Given the description of an element on the screen output the (x, y) to click on. 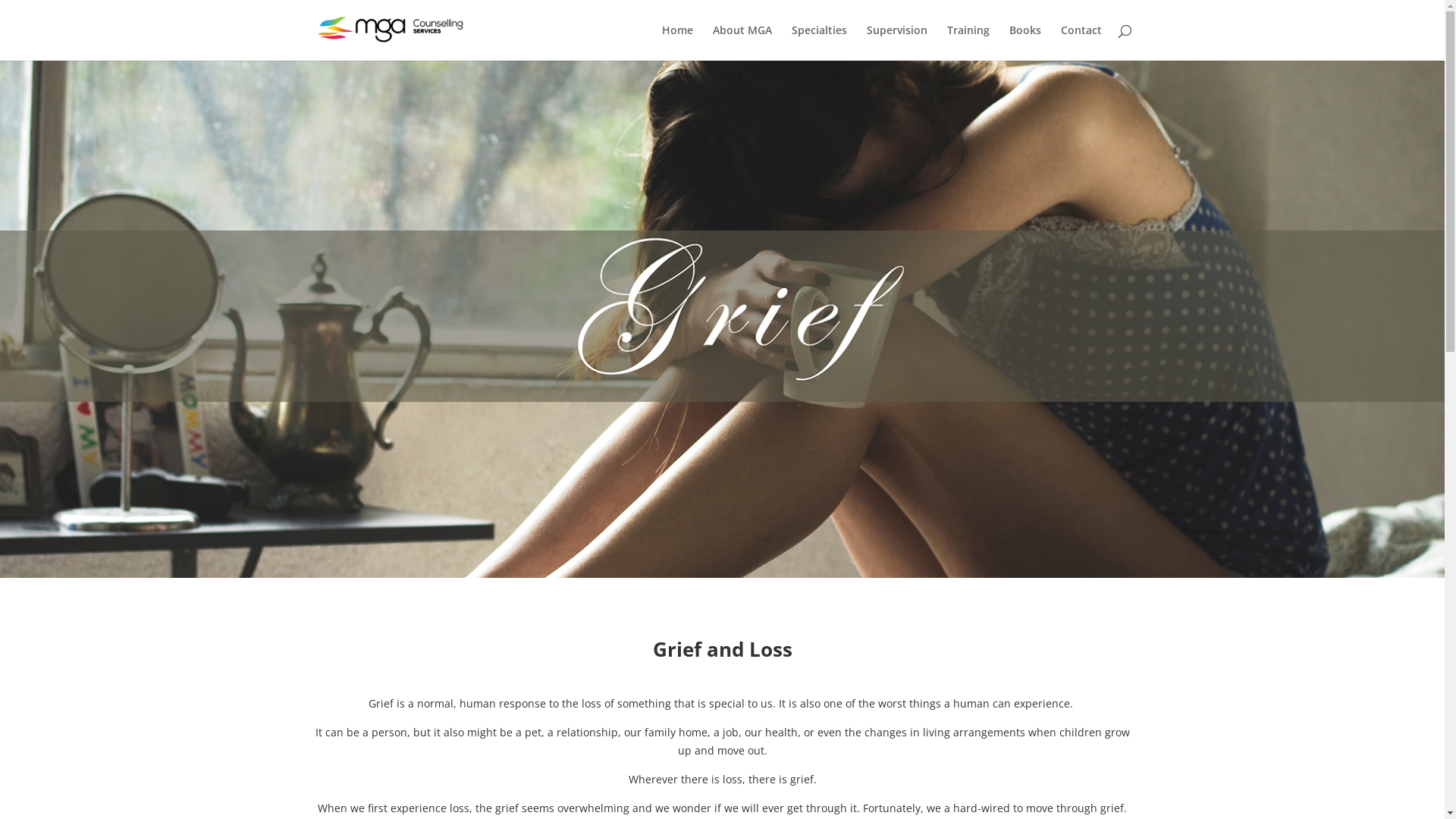
Training Element type: text (967, 42)
About MGA Element type: text (741, 42)
Supervision Element type: text (896, 42)
Grief counselling Element type: hover (722, 318)
Specialties Element type: text (819, 42)
Contact Element type: text (1080, 42)
Books Element type: text (1024, 42)
Home Element type: text (676, 42)
